Given the description of an element on the screen output the (x, y) to click on. 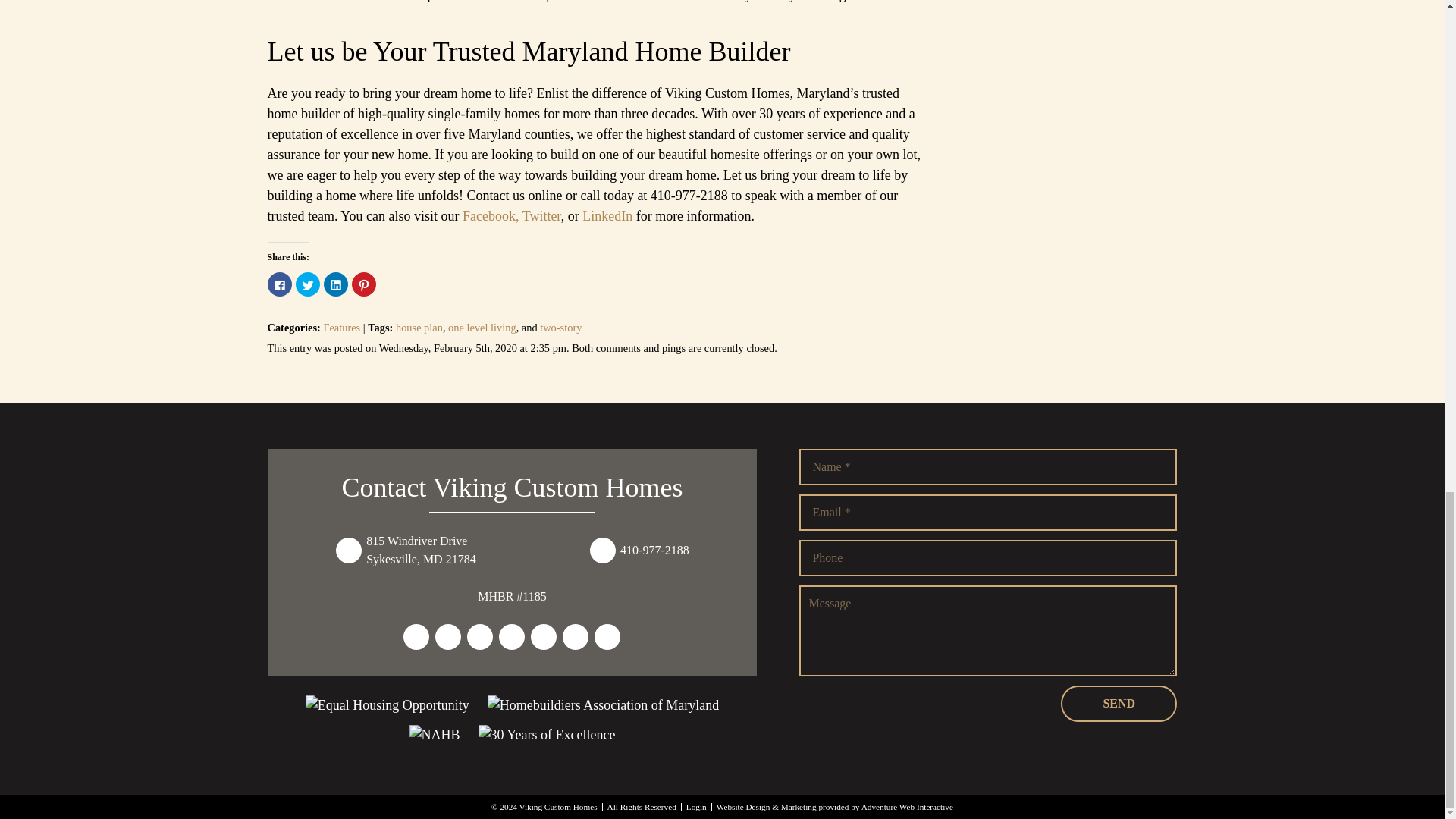
Send (1118, 703)
Click to share on Facebook (278, 283)
Twitter (541, 215)
NAHB (434, 734)
Click to share on Pinterest (363, 283)
Homebuildiers Association of Maryland (603, 705)
30 Years of Excellence (547, 734)
Equal Housing Opportunity (386, 705)
LinkedIn (605, 215)
Click to share on Twitter (307, 283)
